Given the description of an element on the screen output the (x, y) to click on. 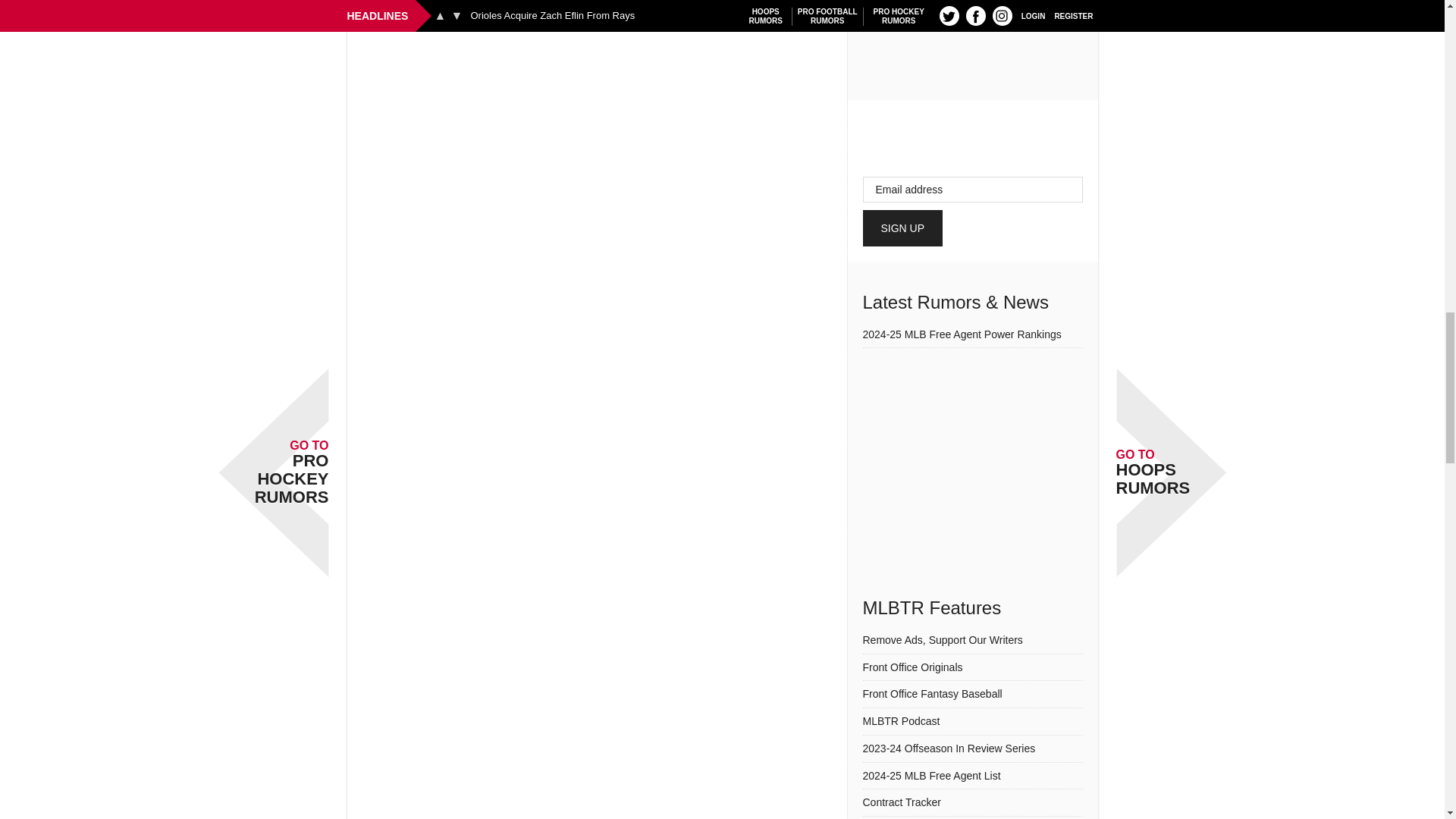
Sign Up (903, 227)
